Given the description of an element on the screen output the (x, y) to click on. 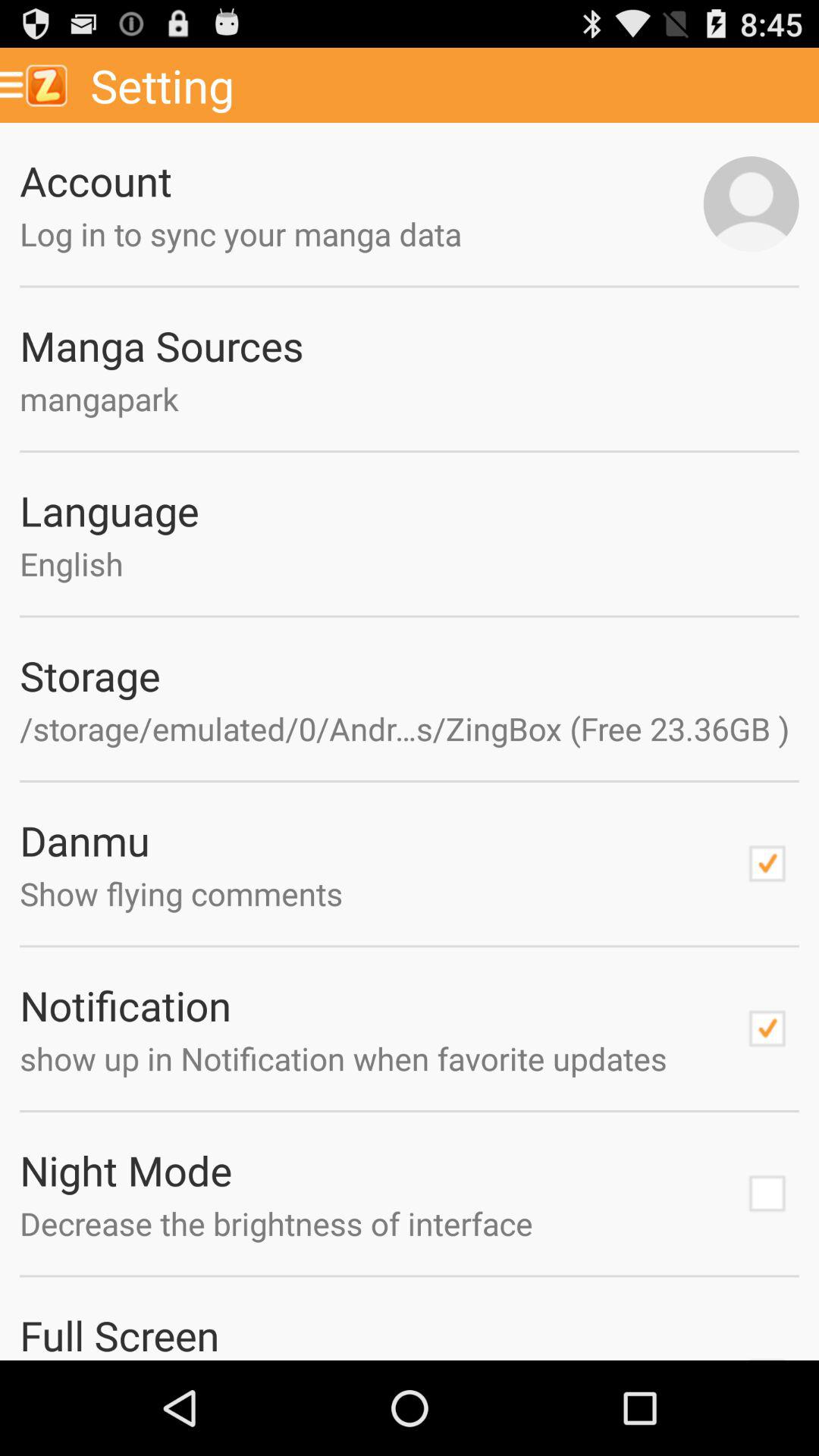
turn on the item below the language icon (409, 563)
